Given the description of an element on the screen output the (x, y) to click on. 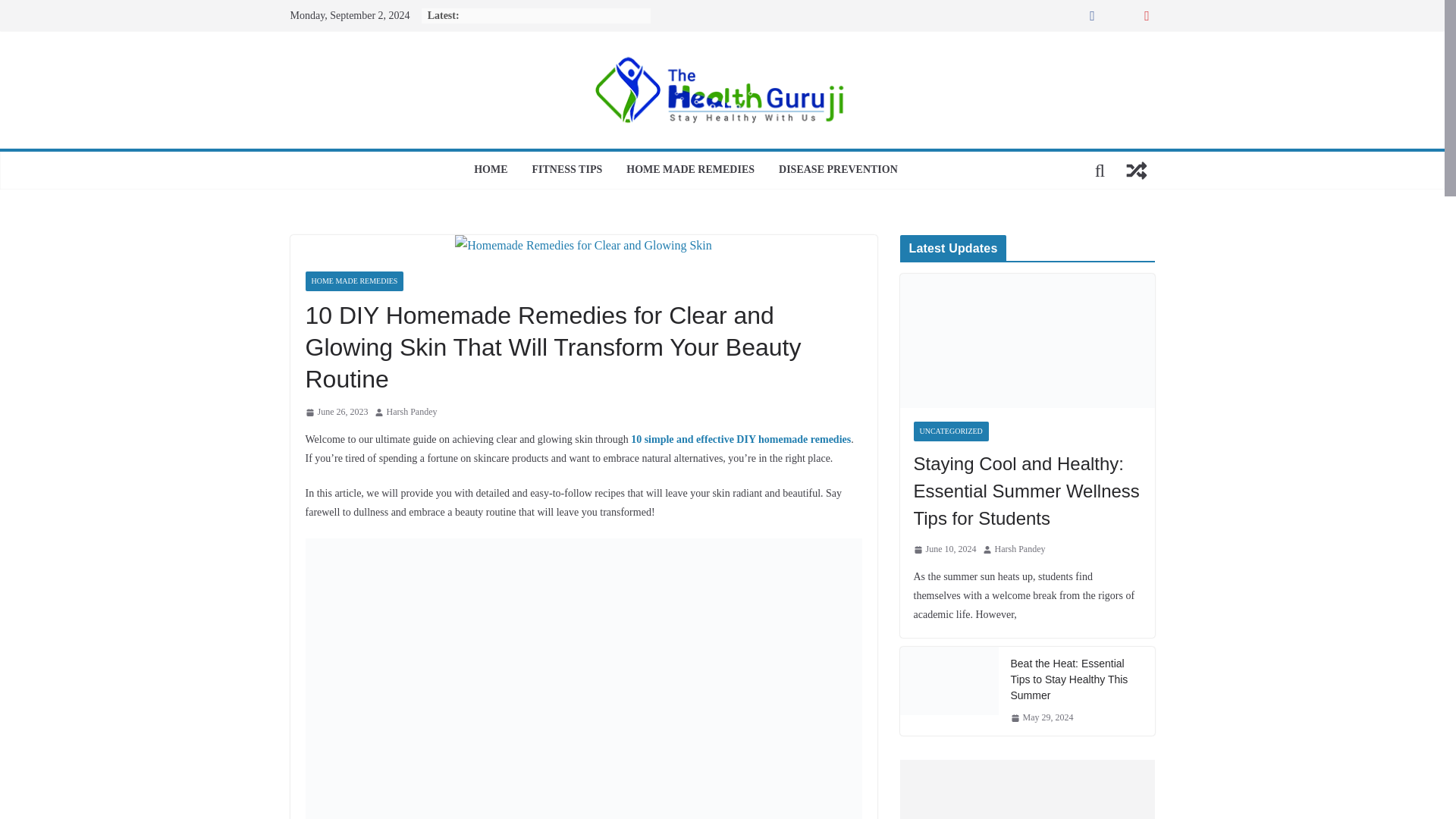
HOME MADE REMEDIES (353, 281)
HOME (490, 169)
HOME MADE REMEDIES (690, 169)
Harsh Pandey (412, 412)
DISEASE PREVENTION (838, 169)
5:27 pm (336, 412)
June 26, 2023 (336, 412)
10 simple and effective DIY homemade remedies (740, 439)
Harsh Pandey (412, 412)
View a random post (1136, 170)
